Given the description of an element on the screen output the (x, y) to click on. 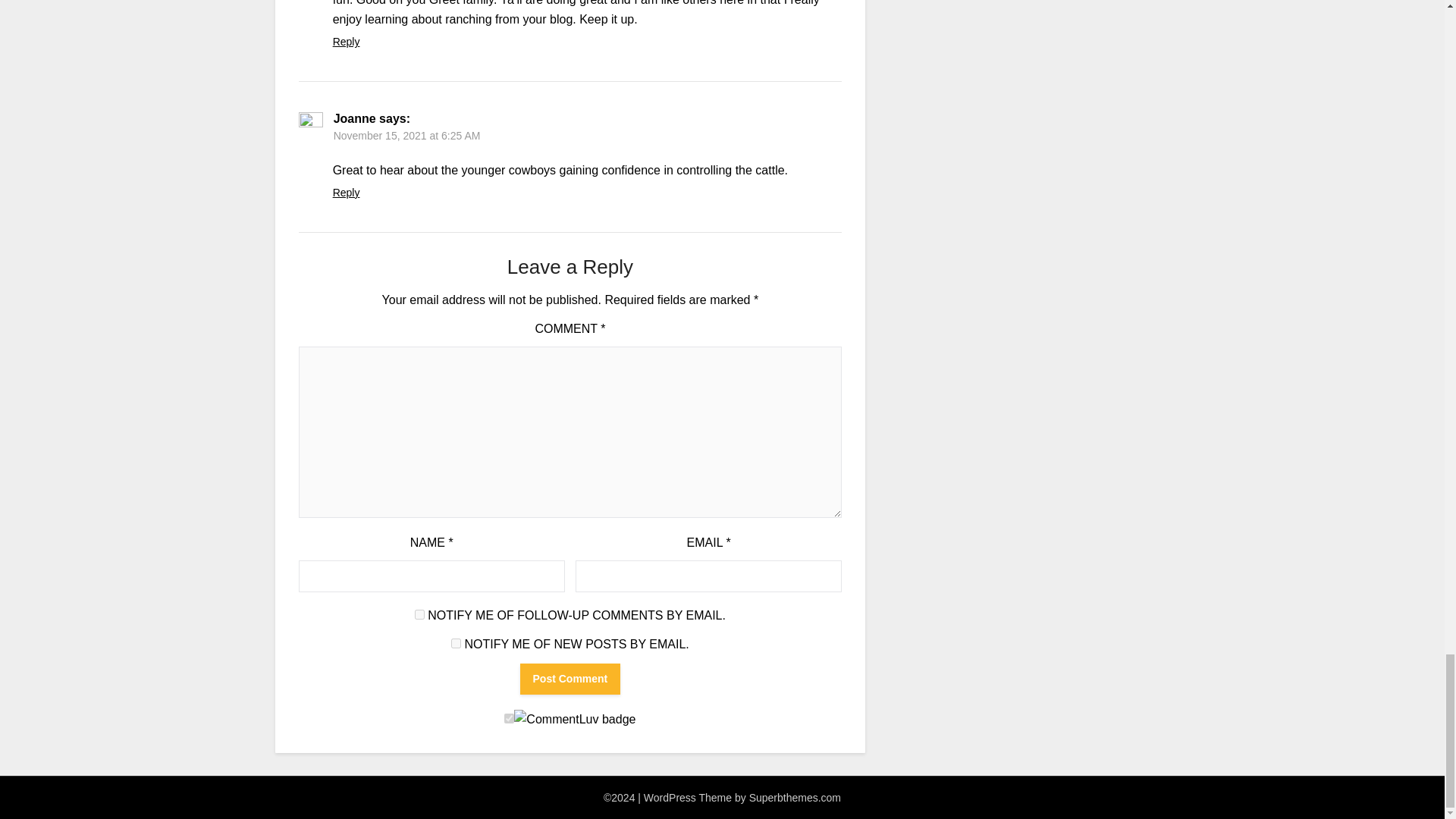
subscribe (456, 643)
Superbthemes.com (795, 797)
Post Comment (570, 678)
on (508, 718)
Reply (346, 192)
November 15, 2021 at 6:25 AM (406, 135)
Post Comment (570, 678)
subscribe (419, 614)
Reply (346, 41)
